Given the description of an element on the screen output the (x, y) to click on. 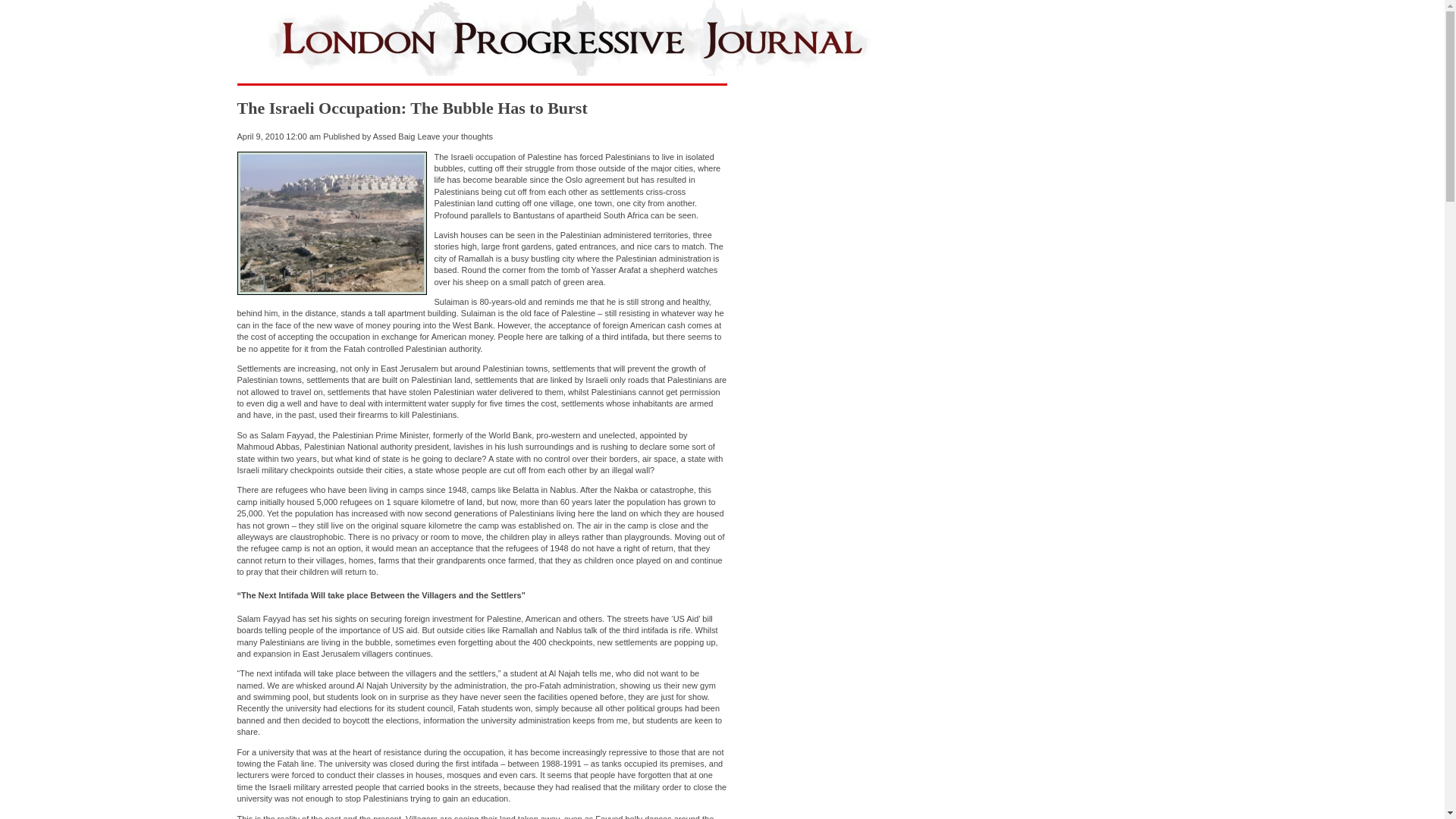
The Israeli Occupation: The Bubble Has to Burst (410, 107)
The Israeli Occupation: The Bubble Has to Burst (410, 107)
Posts by Assed Baig (393, 135)
Leave your thoughts (454, 135)
Assed Baig (393, 135)
